Given the description of an element on the screen output the (x, y) to click on. 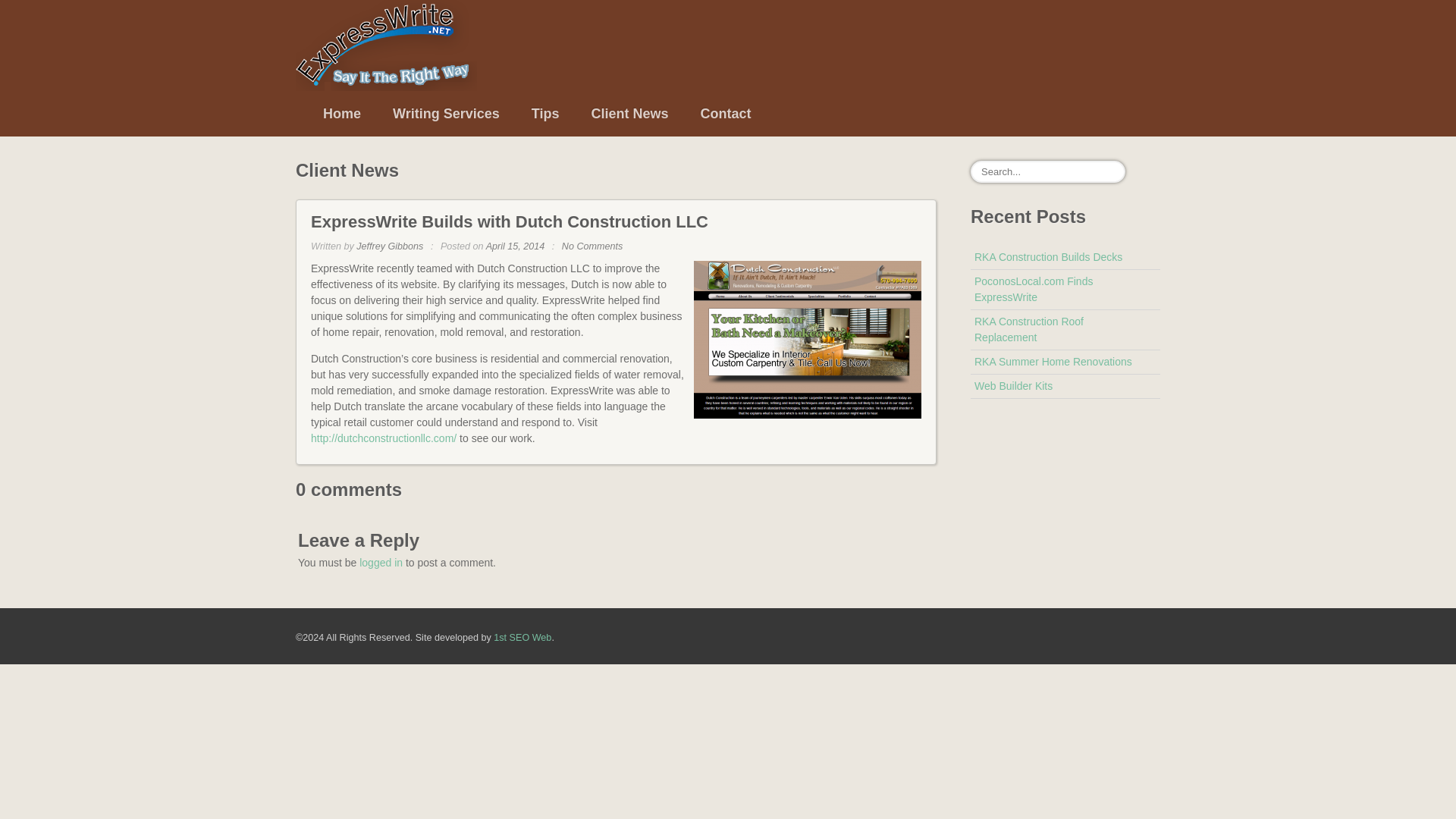
Client News (629, 113)
Search (24, 13)
RKA Summer Home Renovations (1053, 361)
logged in (381, 562)
Writing Services (446, 113)
Home (342, 113)
Web Builder Kits (1013, 386)
Posts by Jeffrey Gibbons (389, 245)
April 15, 2014 (515, 245)
RKA Construction Builds Decks (1048, 256)
